Given the description of an element on the screen output the (x, y) to click on. 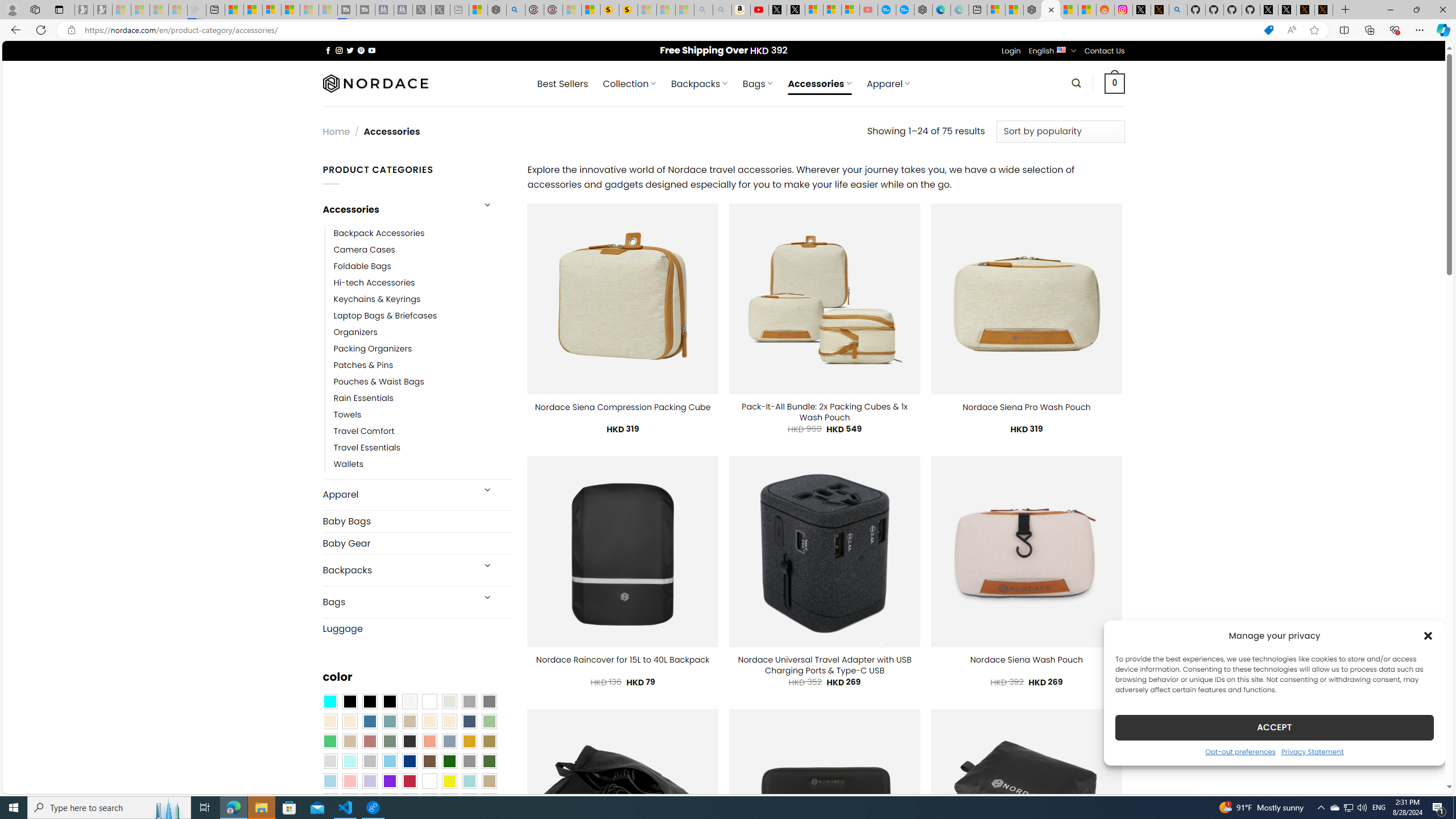
Aqua (468, 780)
Beige-Brown (349, 721)
poe - Search (515, 9)
Backpack Accessories (422, 232)
Profile / X (1268, 9)
Follow on Instagram (338, 49)
Towels (422, 415)
Bags (397, 602)
Login (1010, 50)
Light Purple (369, 780)
Nordace Siena Wash Pouch (1026, 659)
